Given the description of an element on the screen output the (x, y) to click on. 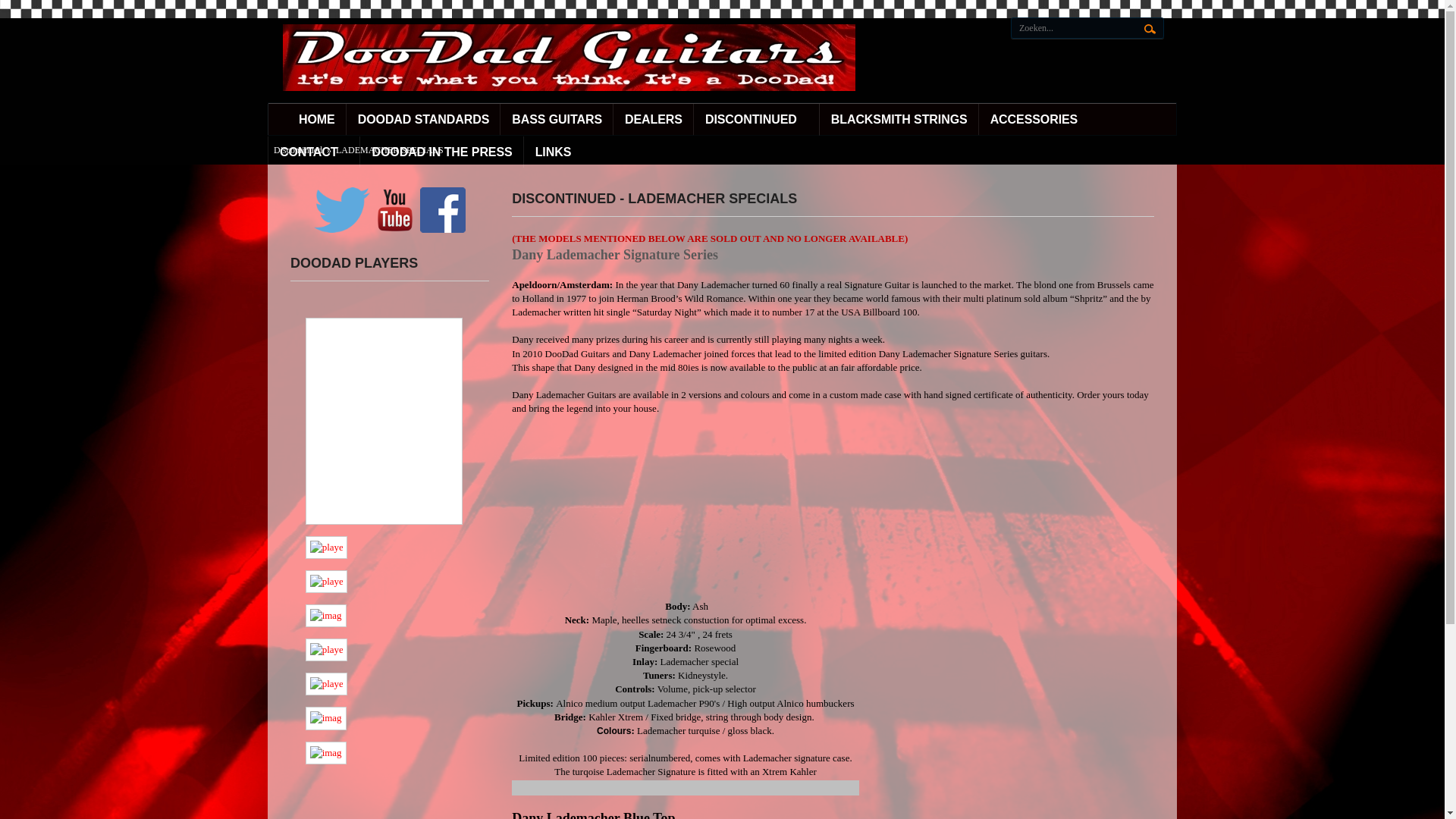
ACCESSORIES (1033, 119)
Discontinued (297, 149)
Clear search text (1150, 53)
Doodad (569, 49)
BLACKSMITH STRINGS (898, 119)
BASS GUITARS (556, 119)
LINKS (553, 152)
CONTACT (313, 152)
Search (1150, 29)
DOODAD IN THE PRESS (440, 152)
